Given the description of an element on the screen output the (x, y) to click on. 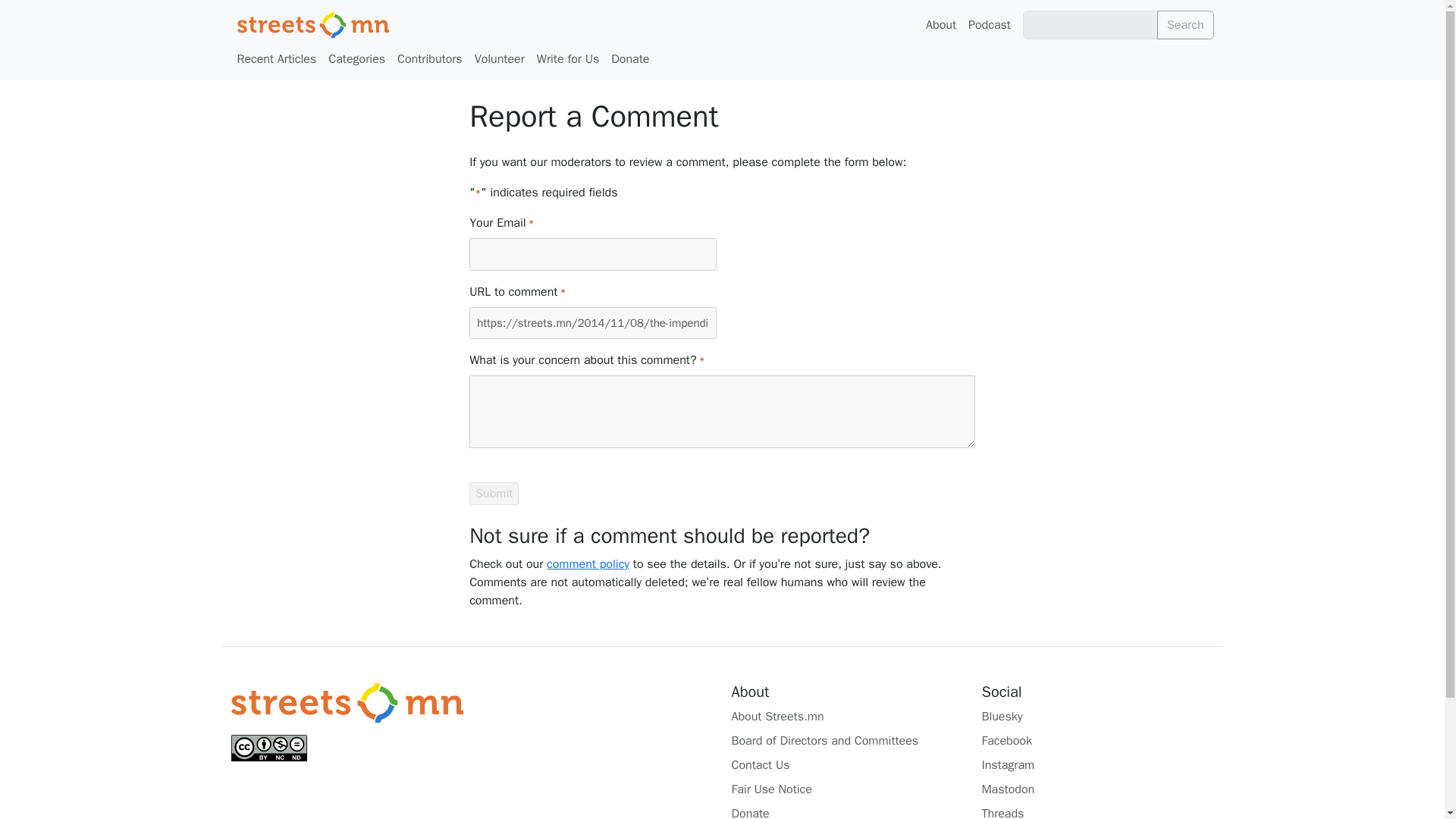
Donate (630, 59)
Categories (356, 59)
Search (1185, 24)
Recent Articles (275, 59)
comment policy (587, 563)
Contributors (429, 59)
Contact Us (846, 764)
Streets.mn (346, 703)
Submit (493, 493)
Streets.mn (311, 24)
Instagram (1096, 764)
Volunteer (499, 59)
Submit (493, 493)
About Streets.mn (846, 716)
Board of Directors and Committees (846, 741)
